Given the description of an element on the screen output the (x, y) to click on. 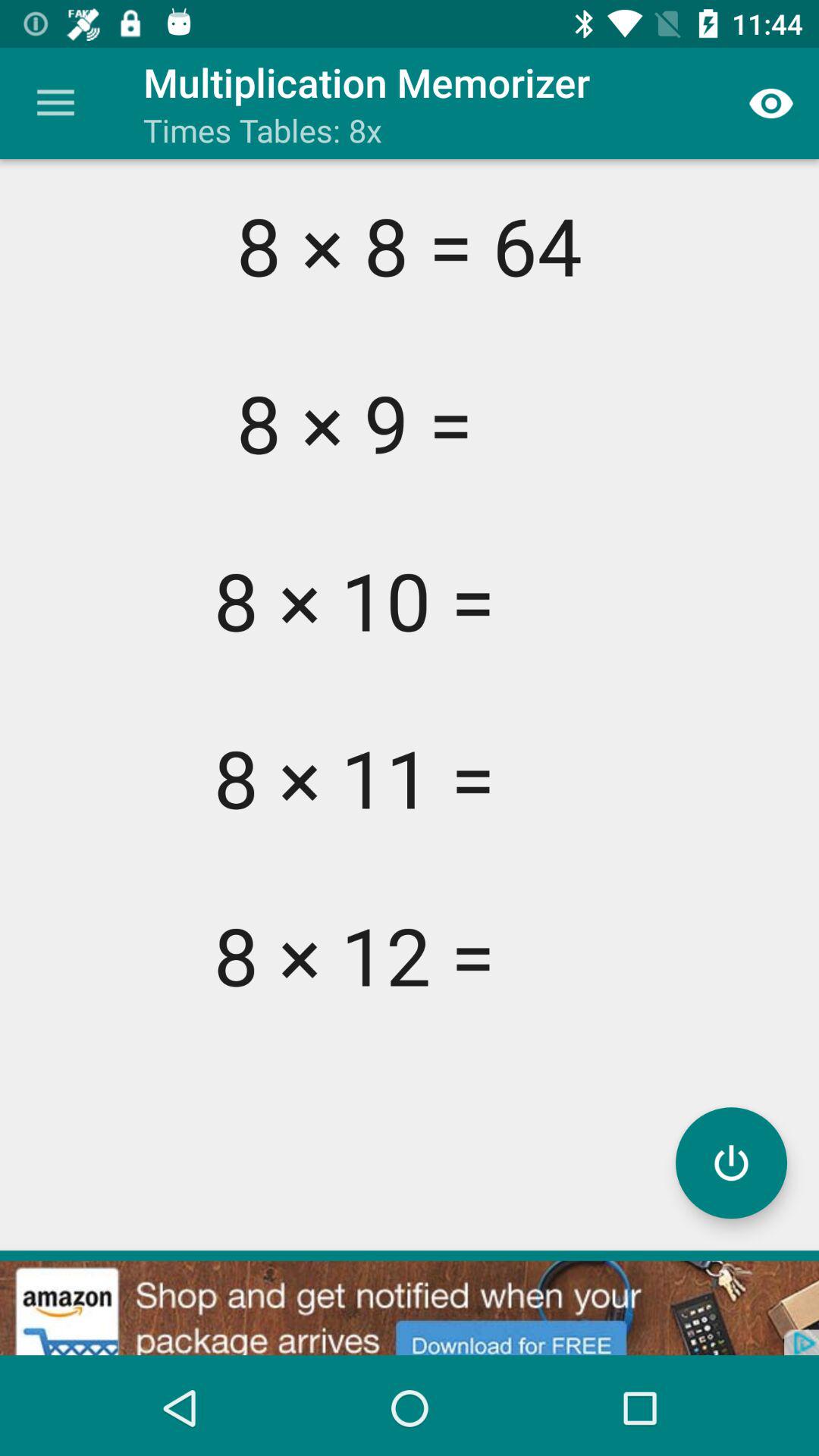
play tutorial (731, 1162)
